Given the description of an element on the screen output the (x, y) to click on. 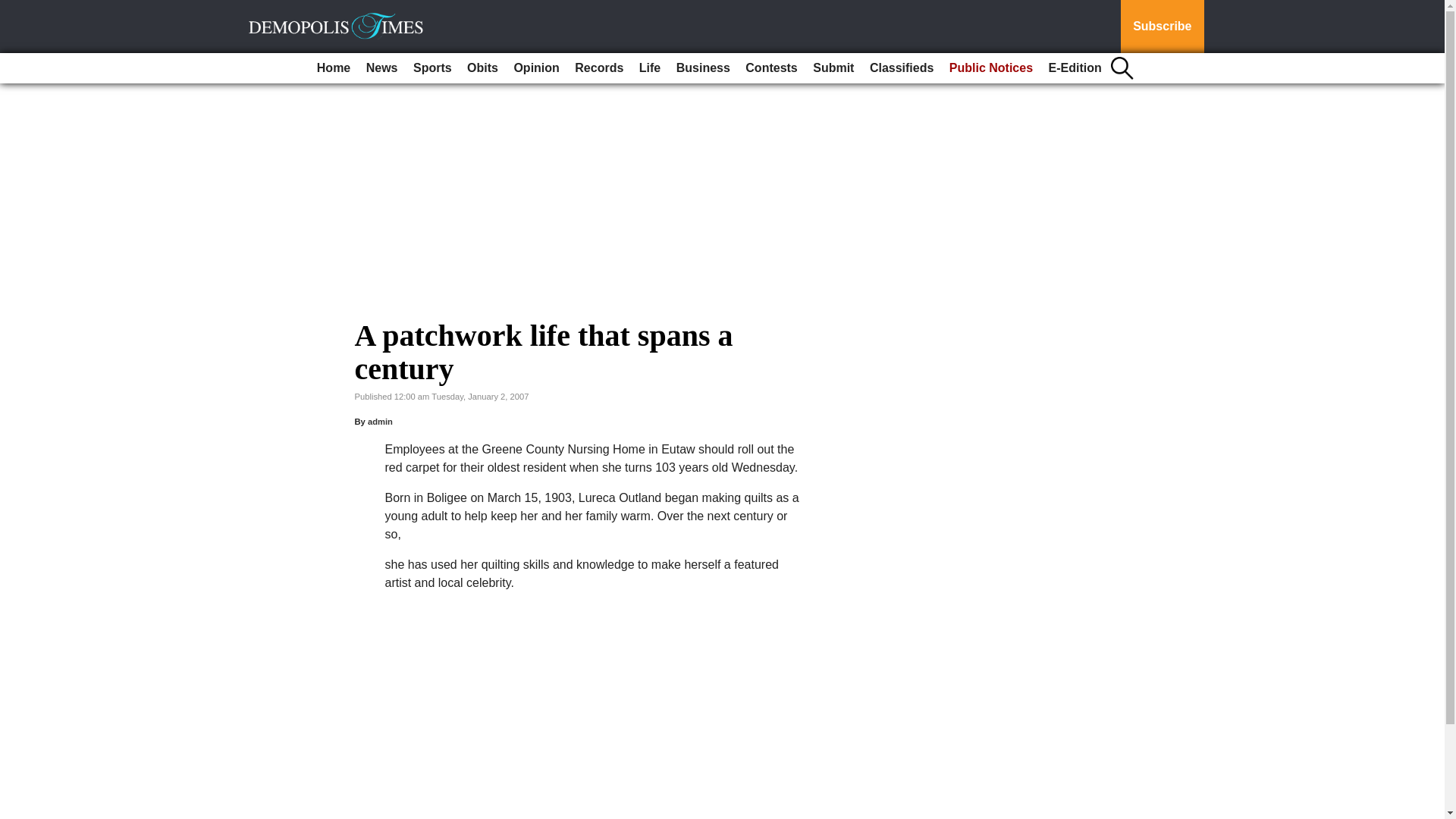
Obits (482, 68)
Public Notices (991, 68)
Opinion (535, 68)
Contests (771, 68)
Home (333, 68)
E-Edition (1075, 68)
Go (13, 9)
Business (702, 68)
Sports (432, 68)
Records (598, 68)
